Given the description of an element on the screen output the (x, y) to click on. 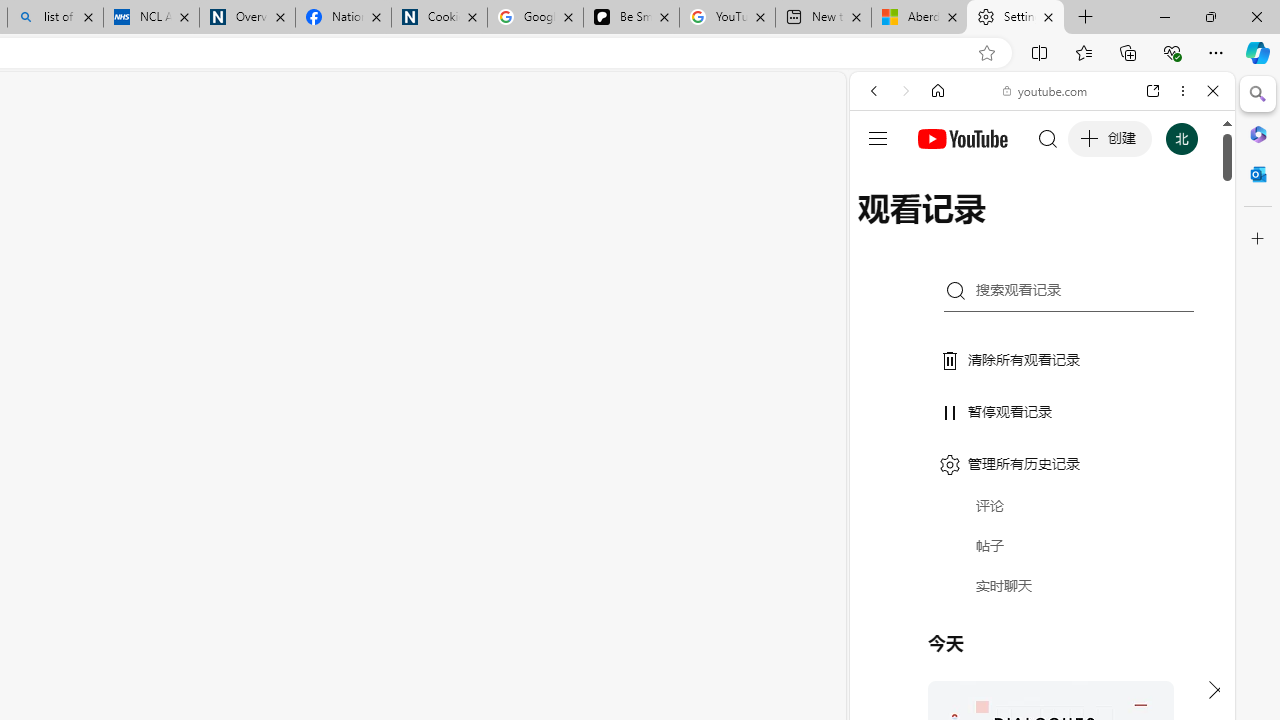
Aberdeen, Hong Kong SAR hourly forecast | Microsoft Weather (918, 17)
Trailer #2 [HD] (1042, 594)
